Given the description of an element on the screen output the (x, y) to click on. 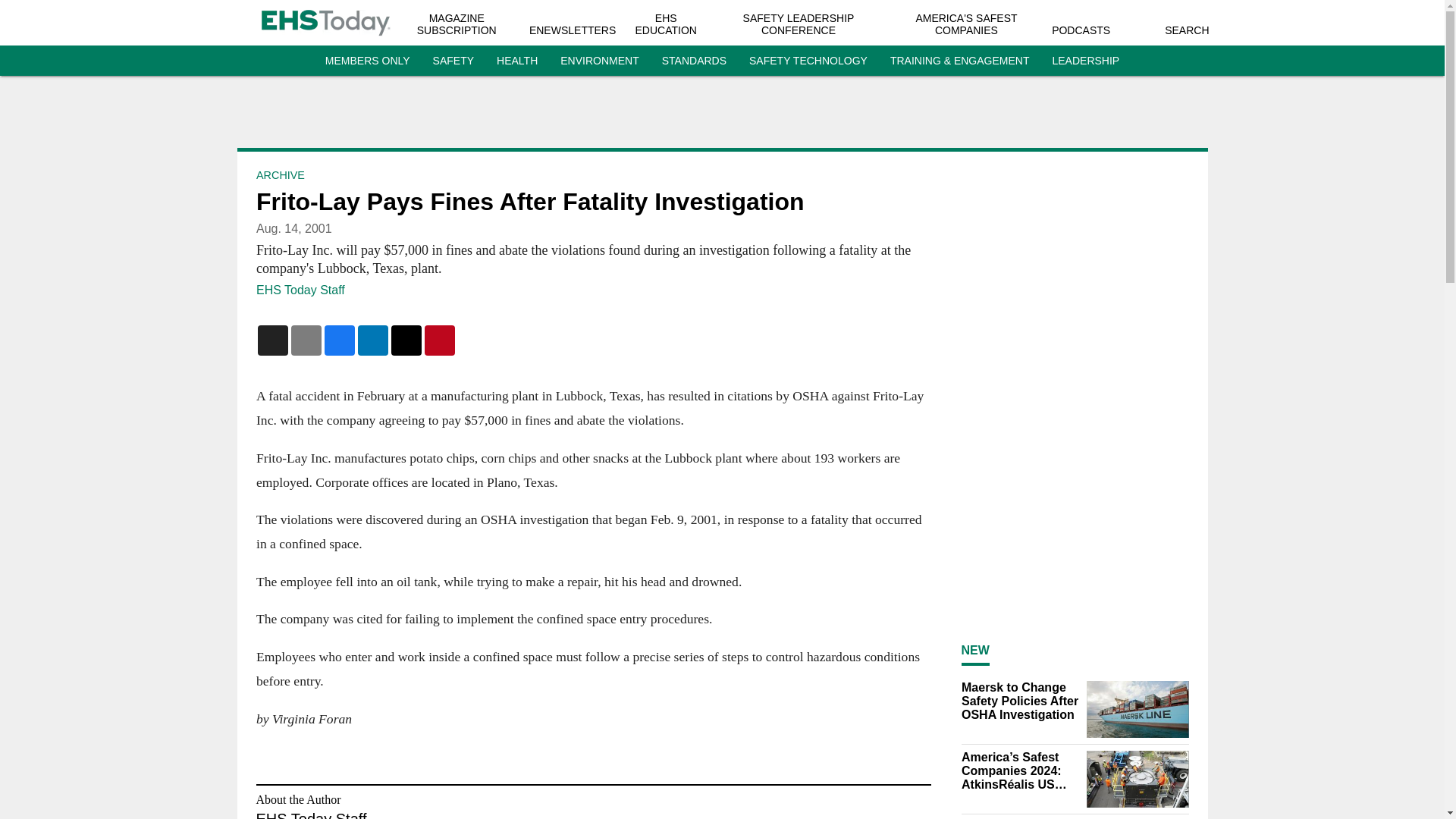
SAFETY (453, 60)
STANDARDS (694, 60)
MAGAZINE SUBSCRIPTION (456, 24)
ARCHIVE (280, 174)
SAFETY LEADERSHIP CONFERENCE (798, 24)
PODCASTS (1080, 30)
HEALTH (516, 60)
LEADERSHIP (1085, 60)
ENEWSLETTERS (572, 30)
MEMBERS ONLY (367, 60)
SEARCH (1186, 30)
EHS Today Staff (300, 289)
AMERICA'S SAFEST COMPANIES (965, 24)
ENVIRONMENT (599, 60)
SAFETY TECHNOLOGY (808, 60)
